Given the description of an element on the screen output the (x, y) to click on. 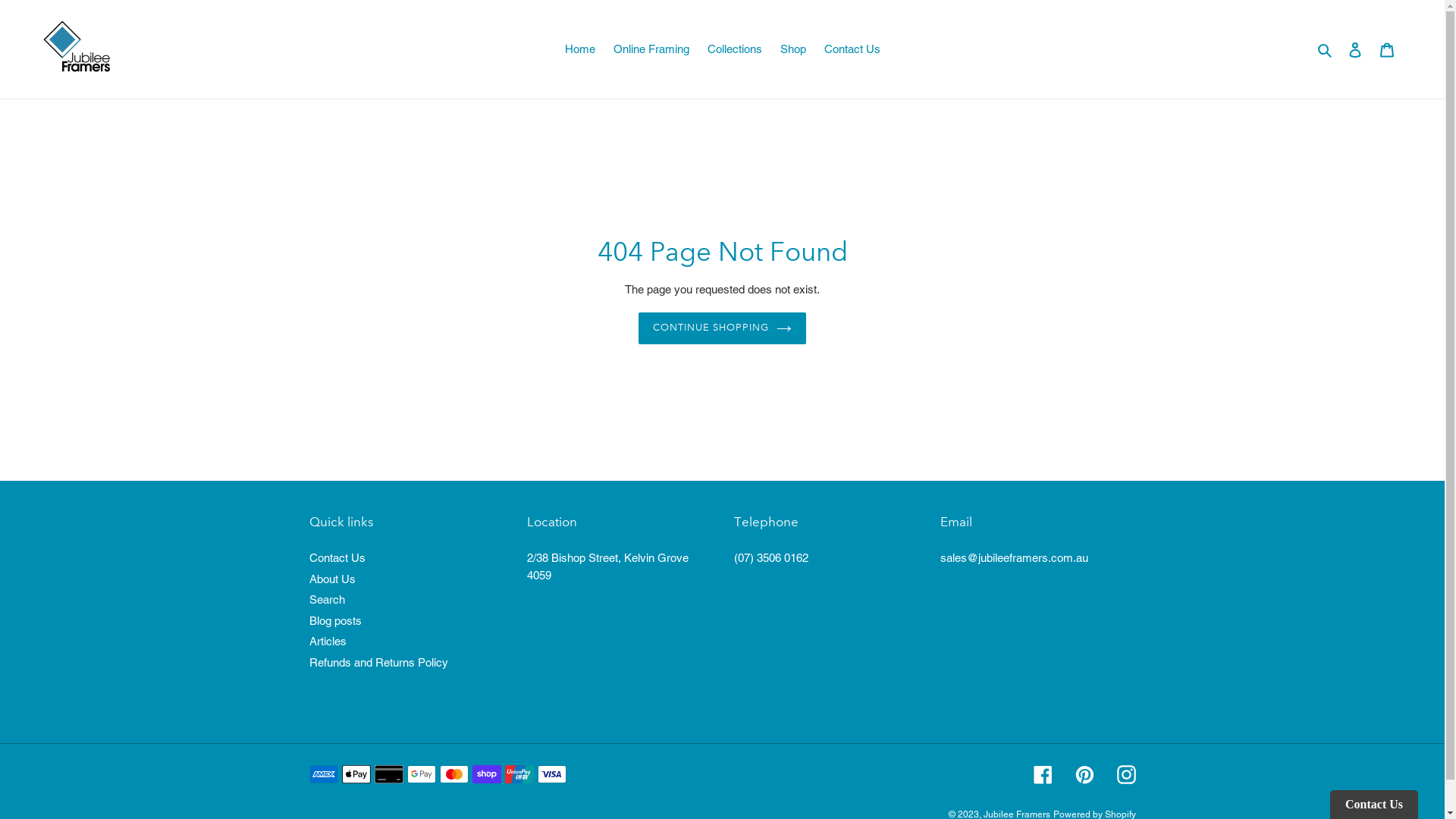
Instagram Element type: text (1125, 774)
Blog posts Element type: text (335, 620)
Refunds and Returns Policy Element type: text (378, 661)
Online Framing Element type: text (650, 49)
Pinterest Element type: text (1084, 774)
Cart Element type: text (1386, 49)
Articles Element type: text (327, 640)
Collections Element type: text (733, 49)
Home Element type: text (579, 49)
Log in Element type: text (1355, 49)
About Us Element type: text (332, 578)
Facebook Element type: text (1041, 774)
Search Element type: text (1325, 49)
CONTINUE SHOPPING Element type: text (722, 328)
Shop Element type: text (791, 49)
Contact Us Element type: text (851, 49)
Search Element type: text (327, 599)
Contact Us Element type: text (337, 557)
